Given the description of an element on the screen output the (x, y) to click on. 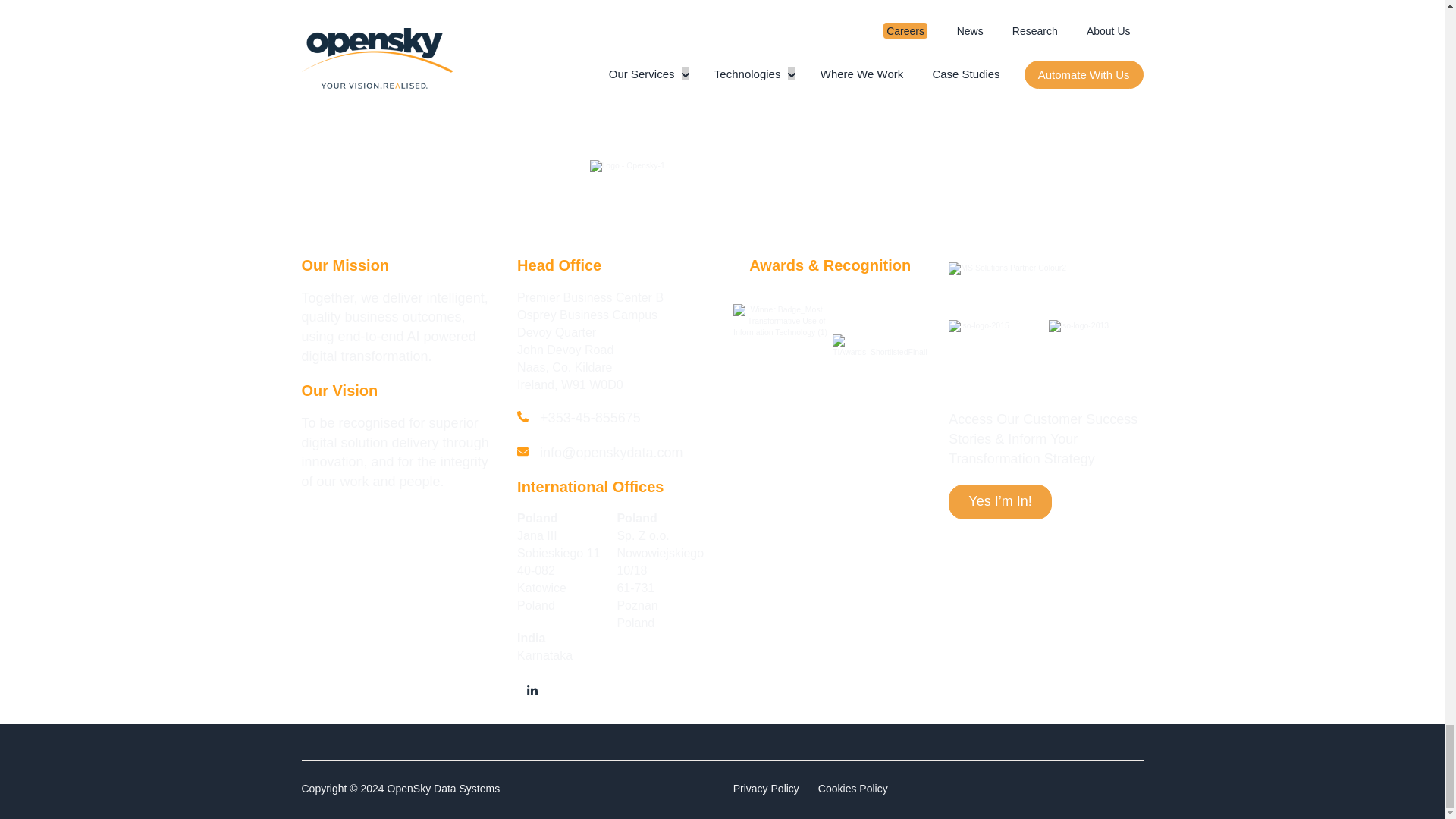
MS Solutions Partner Colour2 (1007, 268)
iso-logo-2013 (1078, 326)
iso-logo-2015 (979, 326)
